Given the description of an element on the screen output the (x, y) to click on. 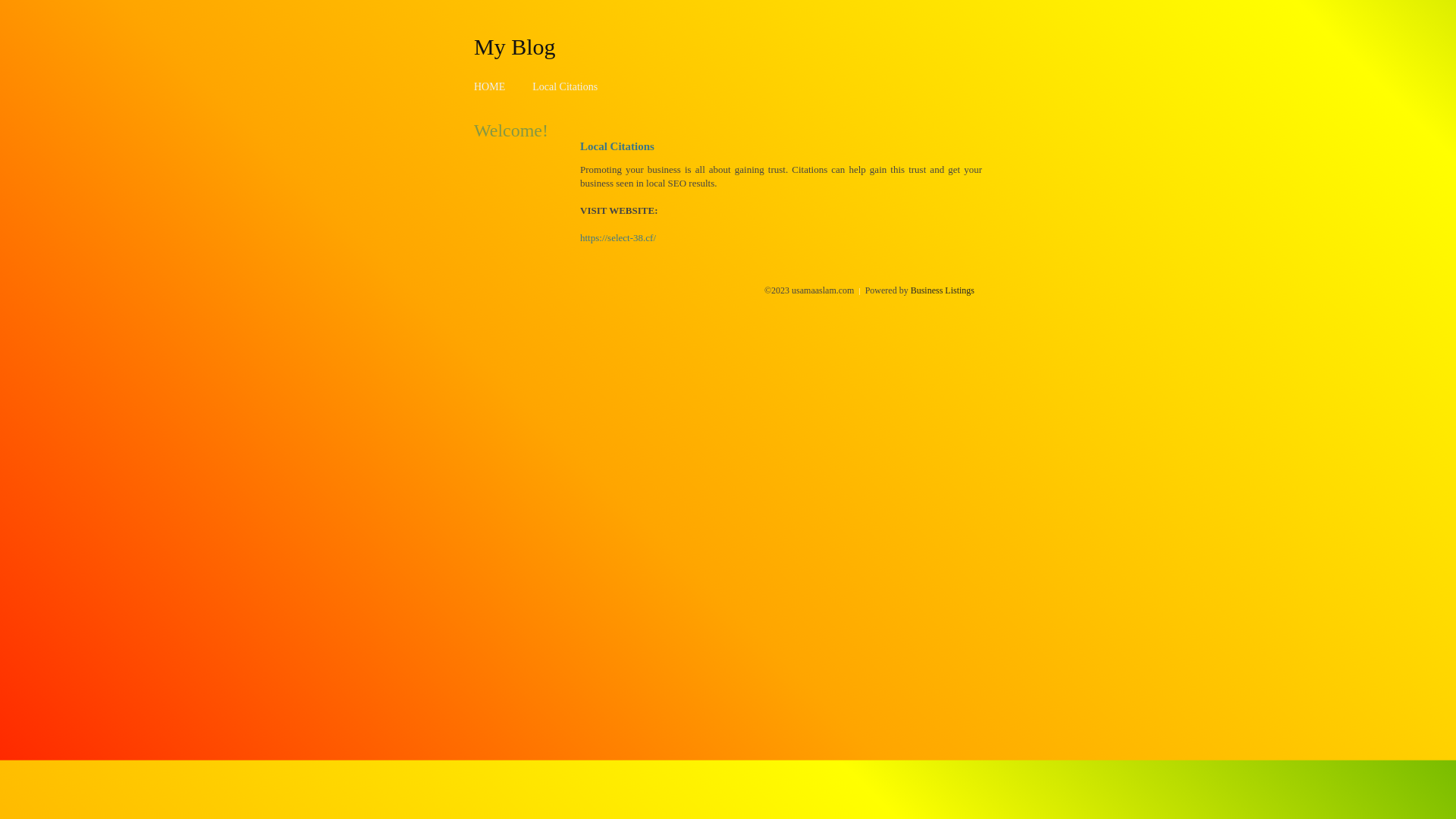
https://select-38.cf/ Element type: text (617, 237)
Local Citations Element type: text (564, 86)
HOME Element type: text (489, 86)
My Blog Element type: text (514, 46)
Business Listings Element type: text (942, 290)
